Given the description of an element on the screen output the (x, y) to click on. 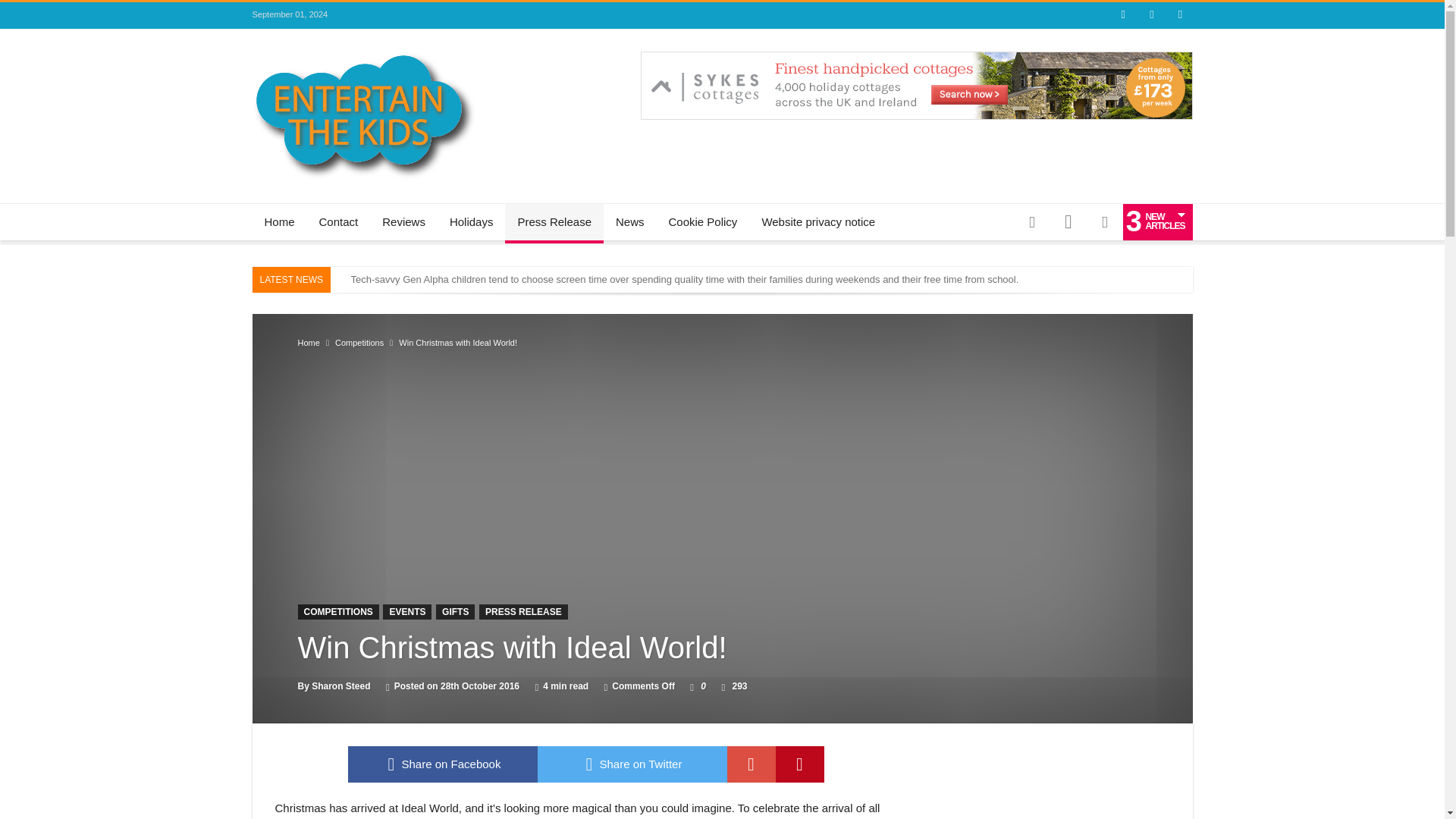
Home (278, 221)
Competitions (359, 342)
Twitter (1151, 15)
Random Article (1031, 221)
COMPETITIONS (337, 611)
News (630, 221)
I like this article (691, 685)
google (750, 764)
Press Release (554, 221)
